Given the description of an element on the screen output the (x, y) to click on. 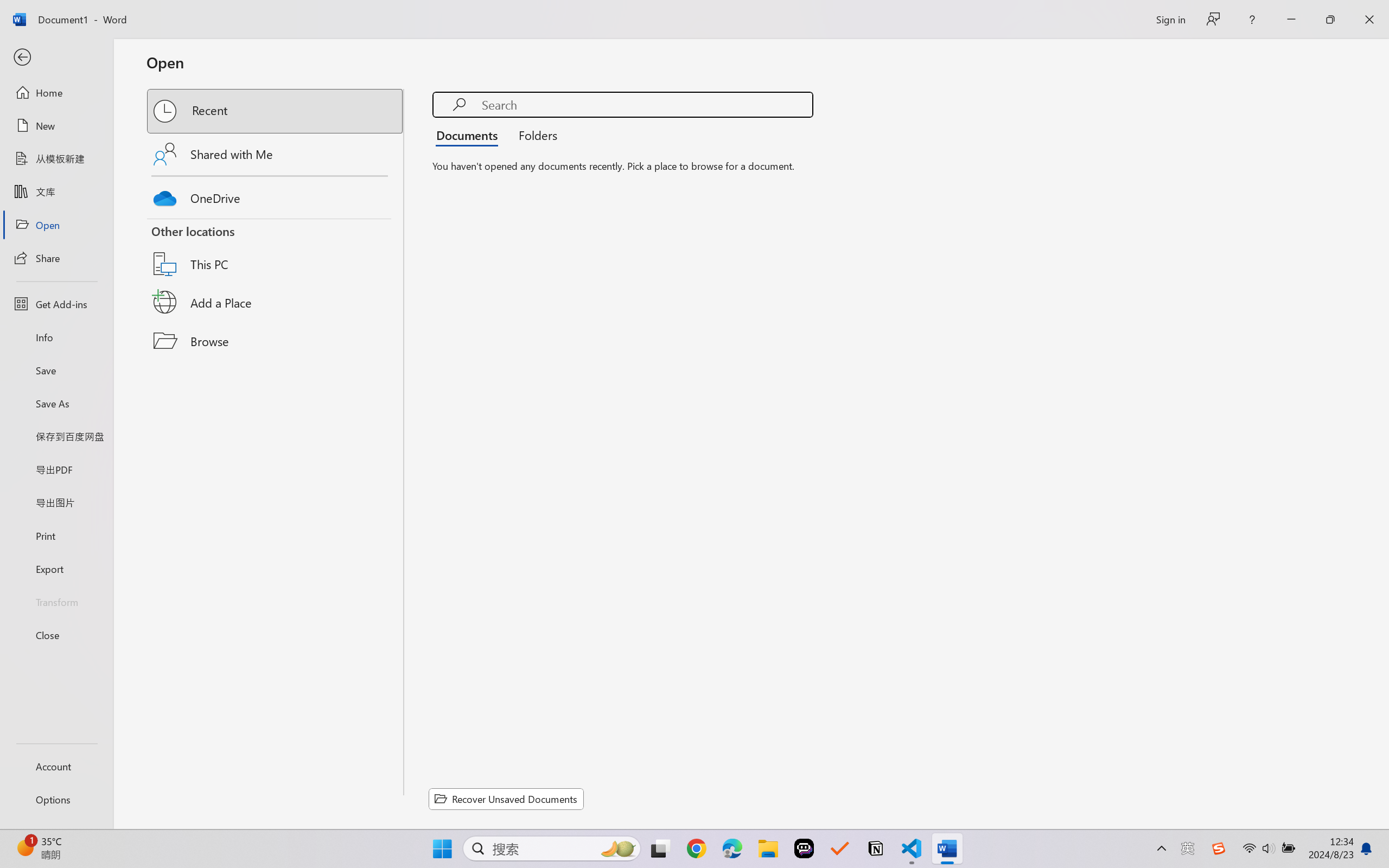
Get Add-ins (56, 303)
Info (56, 337)
Browse (275, 340)
